Given the description of an element on the screen output the (x, y) to click on. 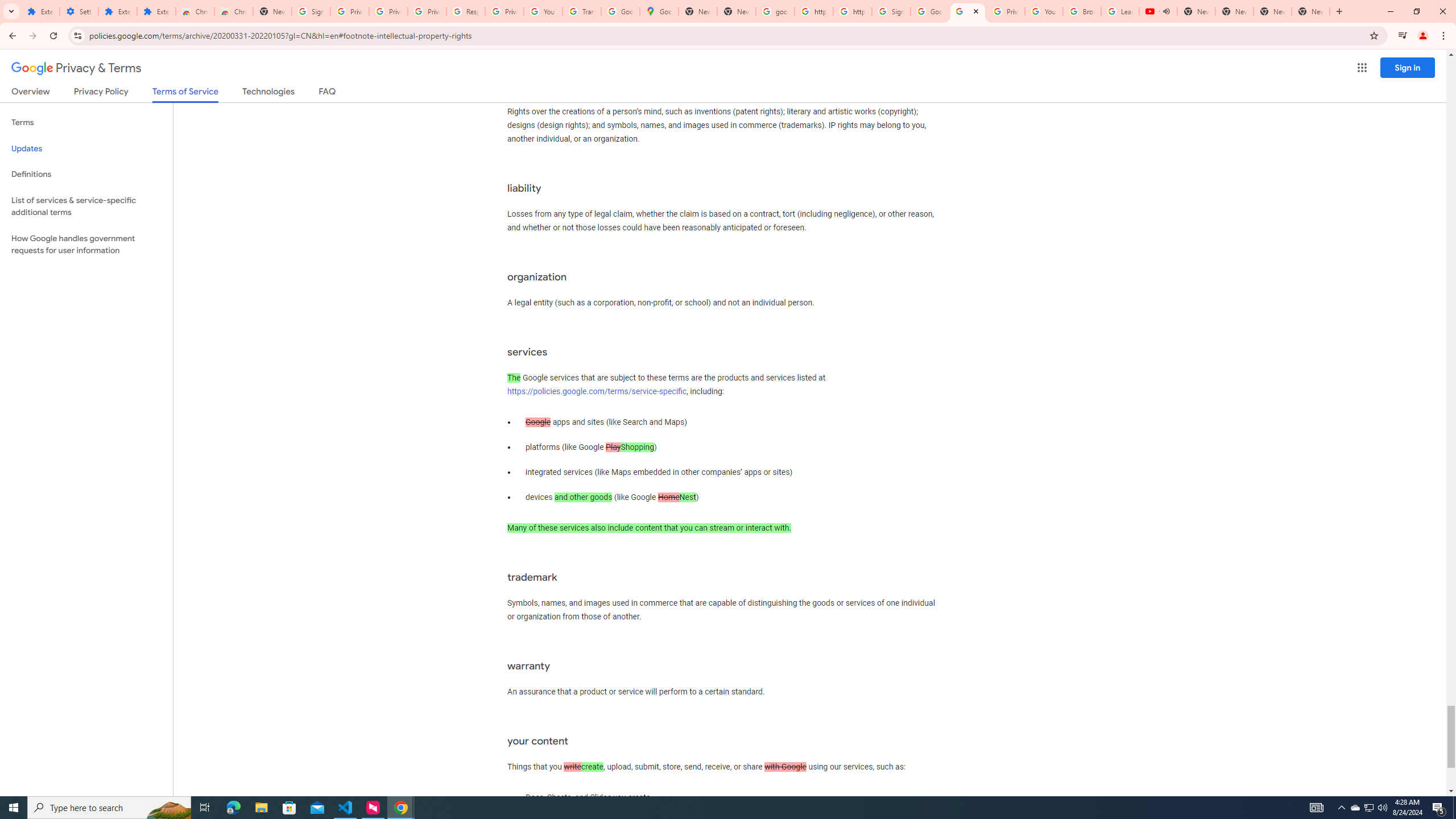
Extensions (117, 11)
YouTube (1043, 11)
Extensions (40, 11)
New Tab (272, 11)
